Given the description of an element on the screen output the (x, y) to click on. 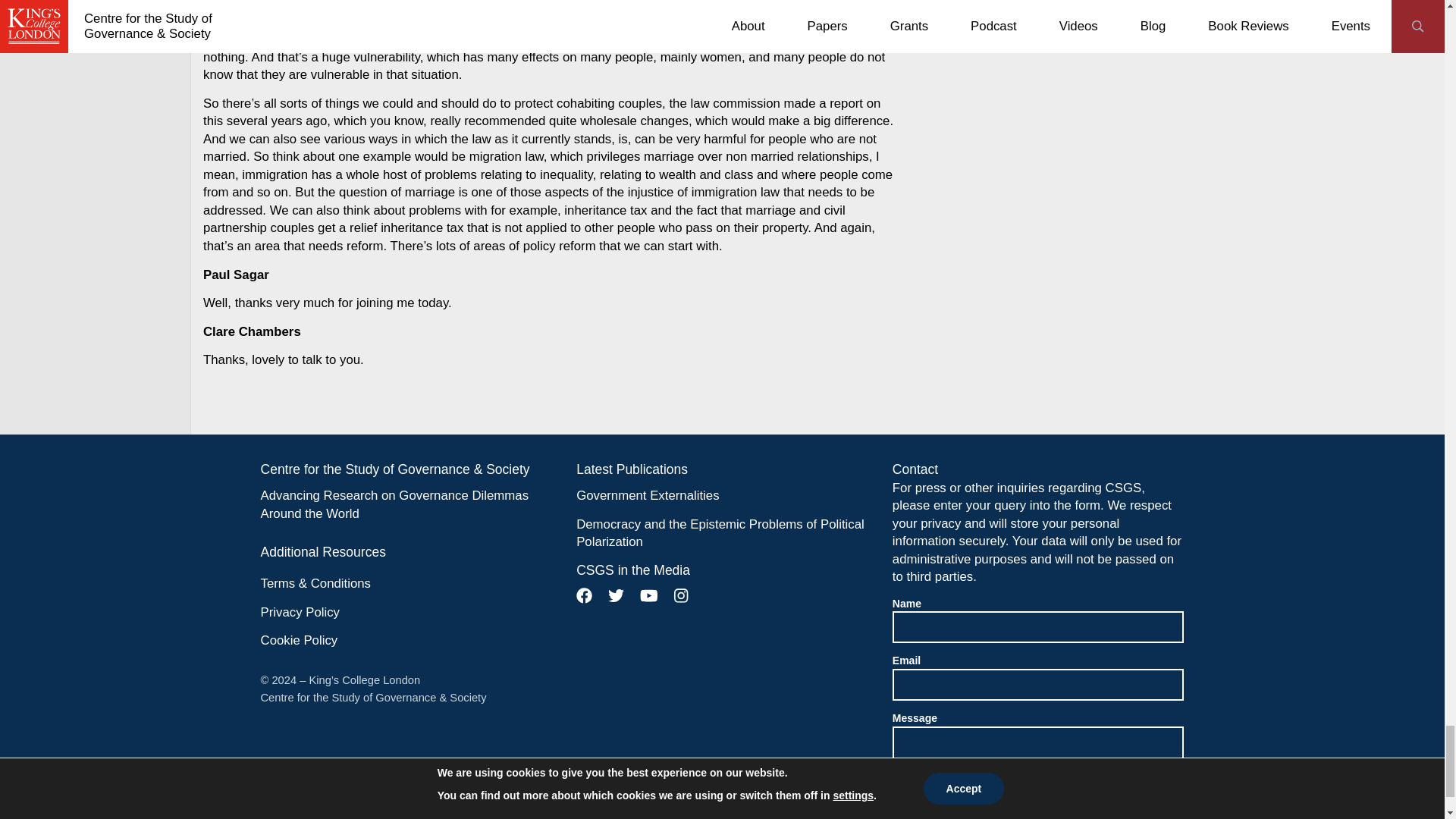
Privacy Policy (299, 612)
Cookie Policy (298, 640)
